Given the description of an element on the screen output the (x, y) to click on. 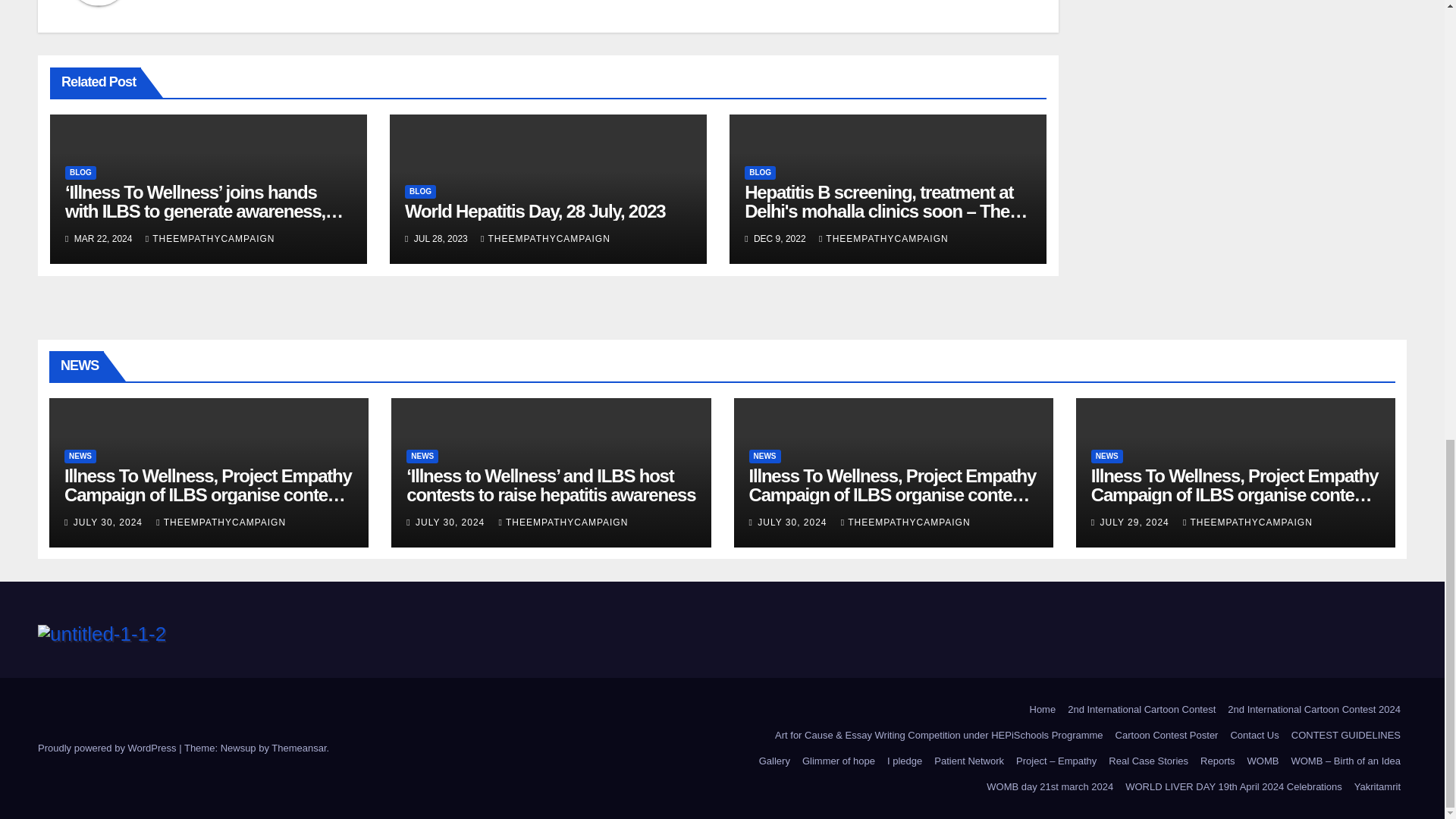
Home (1042, 709)
Permalink to: World Hepatitis Day, 28 July, 2023 (534, 210)
